Given the description of an element on the screen output the (x, y) to click on. 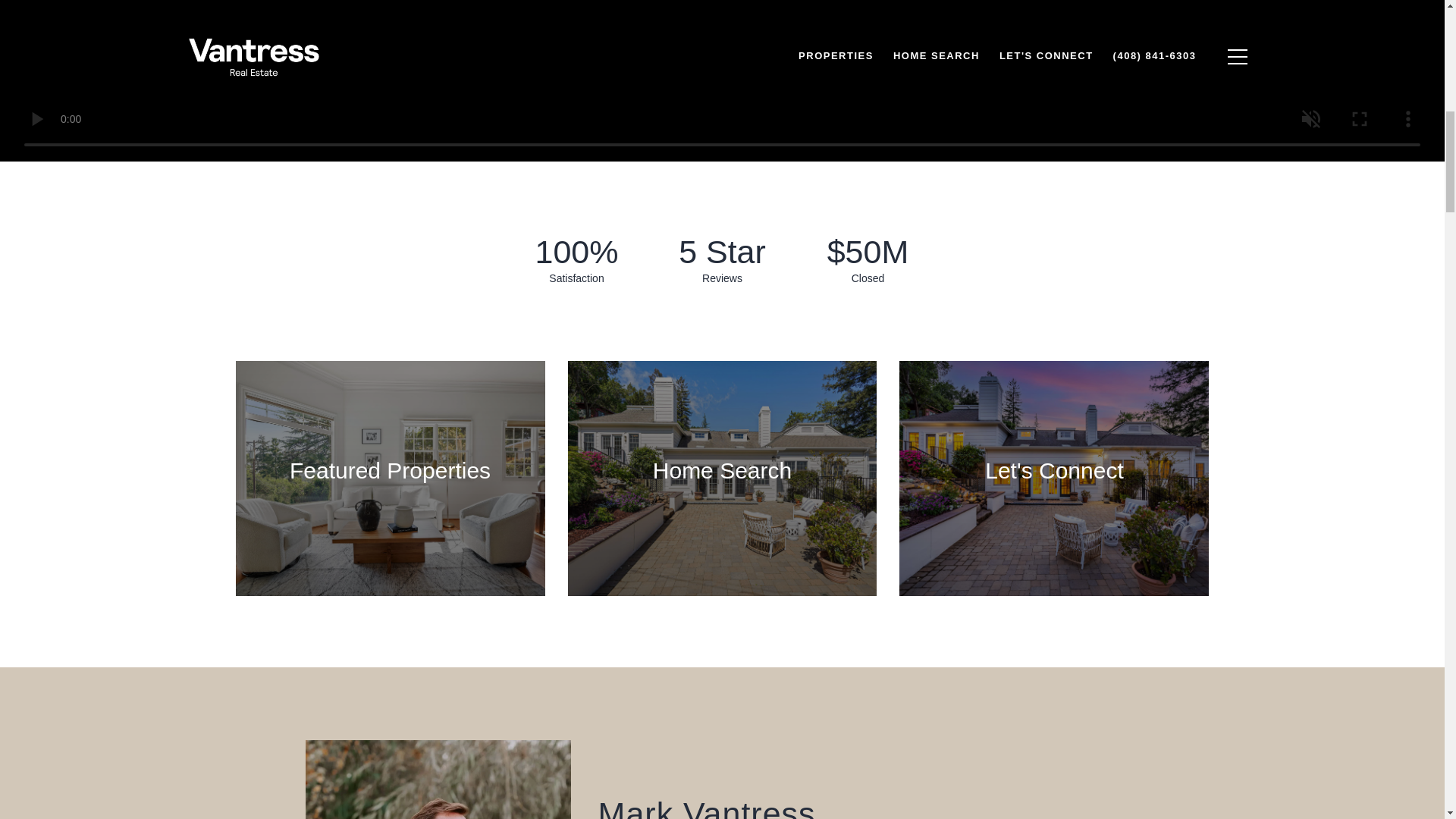
Home Search (721, 478)
Let's Connect (1053, 478)
Featured Properties (389, 478)
